Given the description of an element on the screen output the (x, y) to click on. 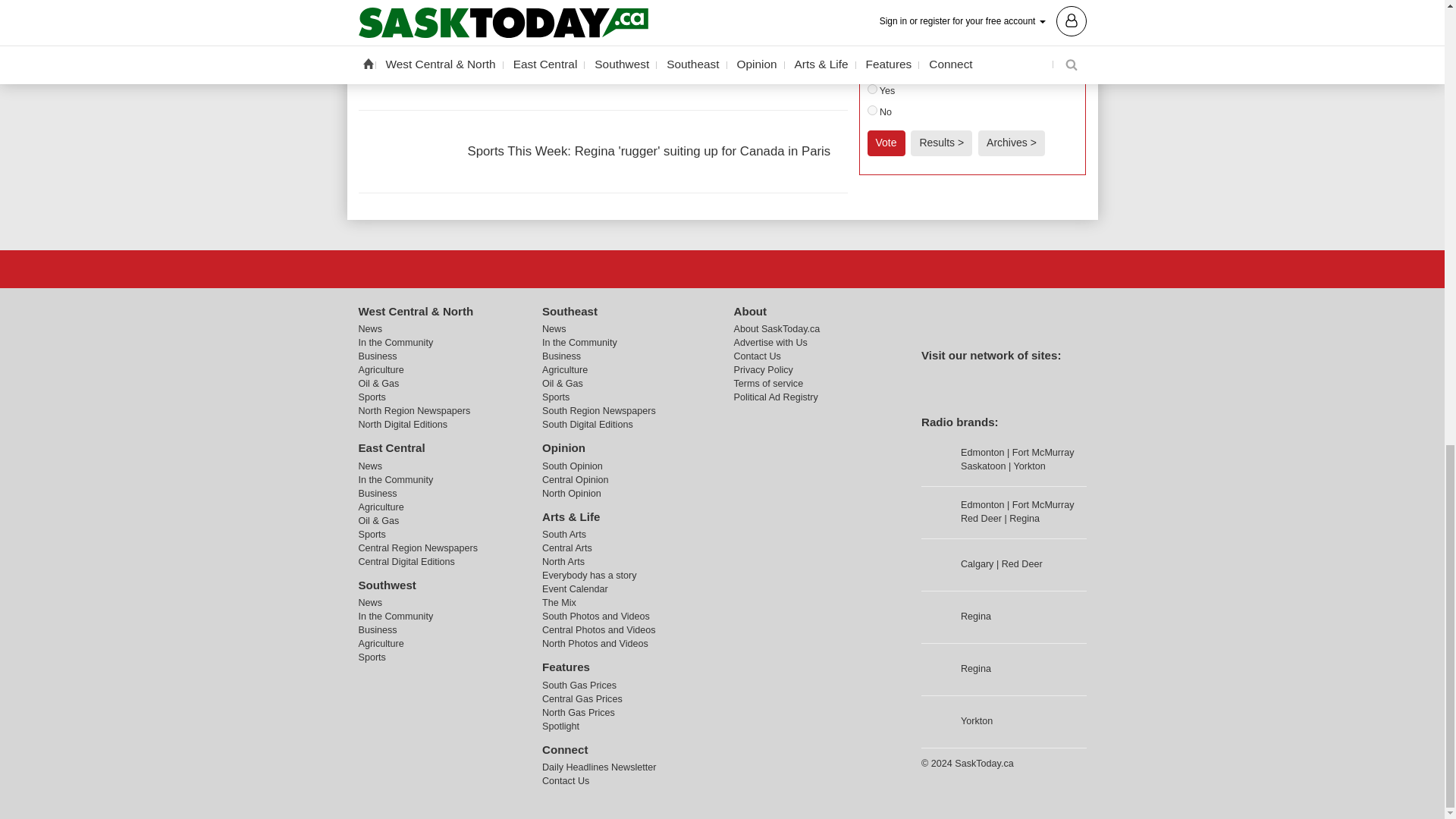
122183 (872, 110)
122182 (872, 89)
